Given the description of an element on the screen output the (x, y) to click on. 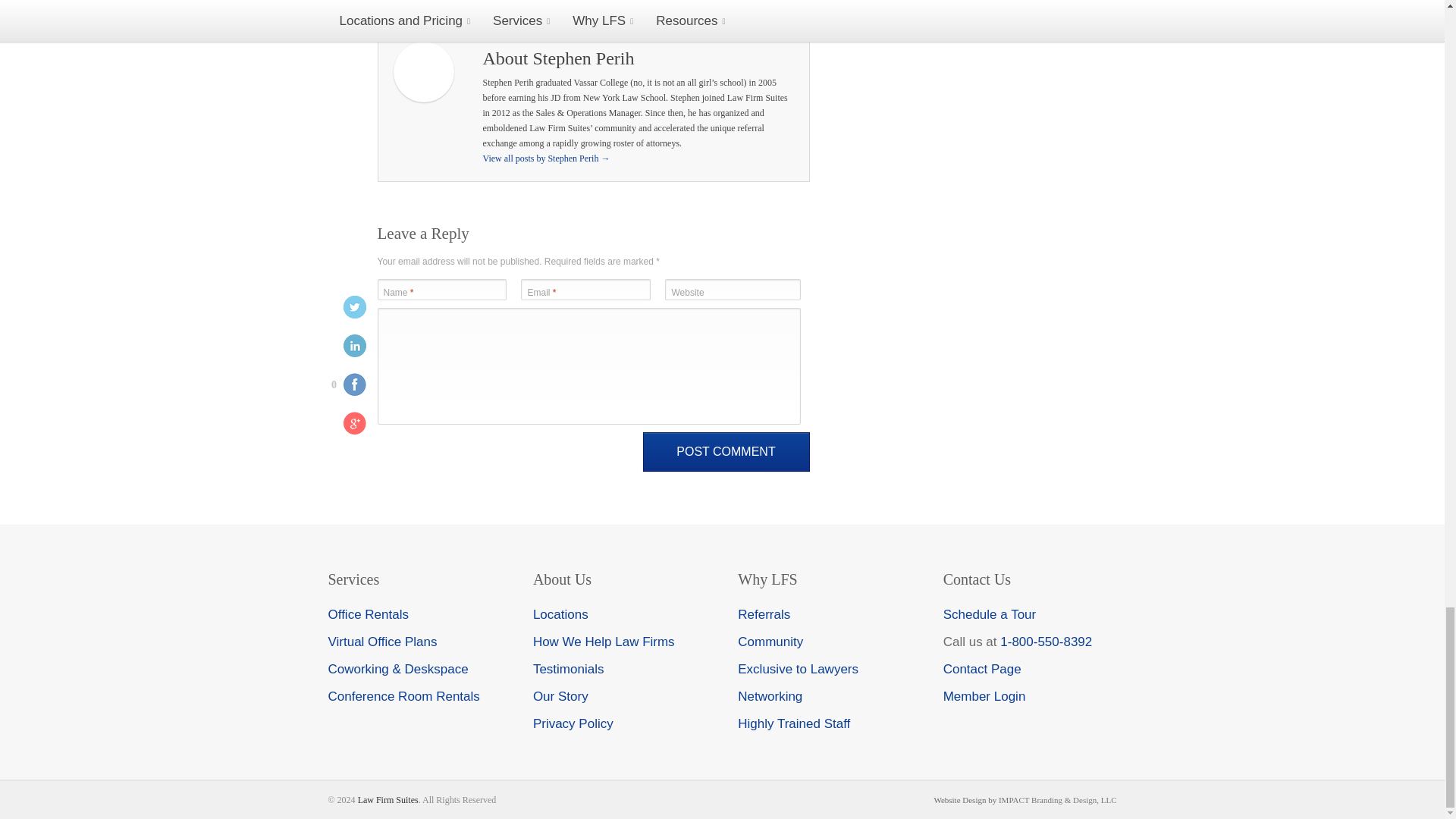
Post Comment (726, 451)
